Given the description of an element on the screen output the (x, y) to click on. 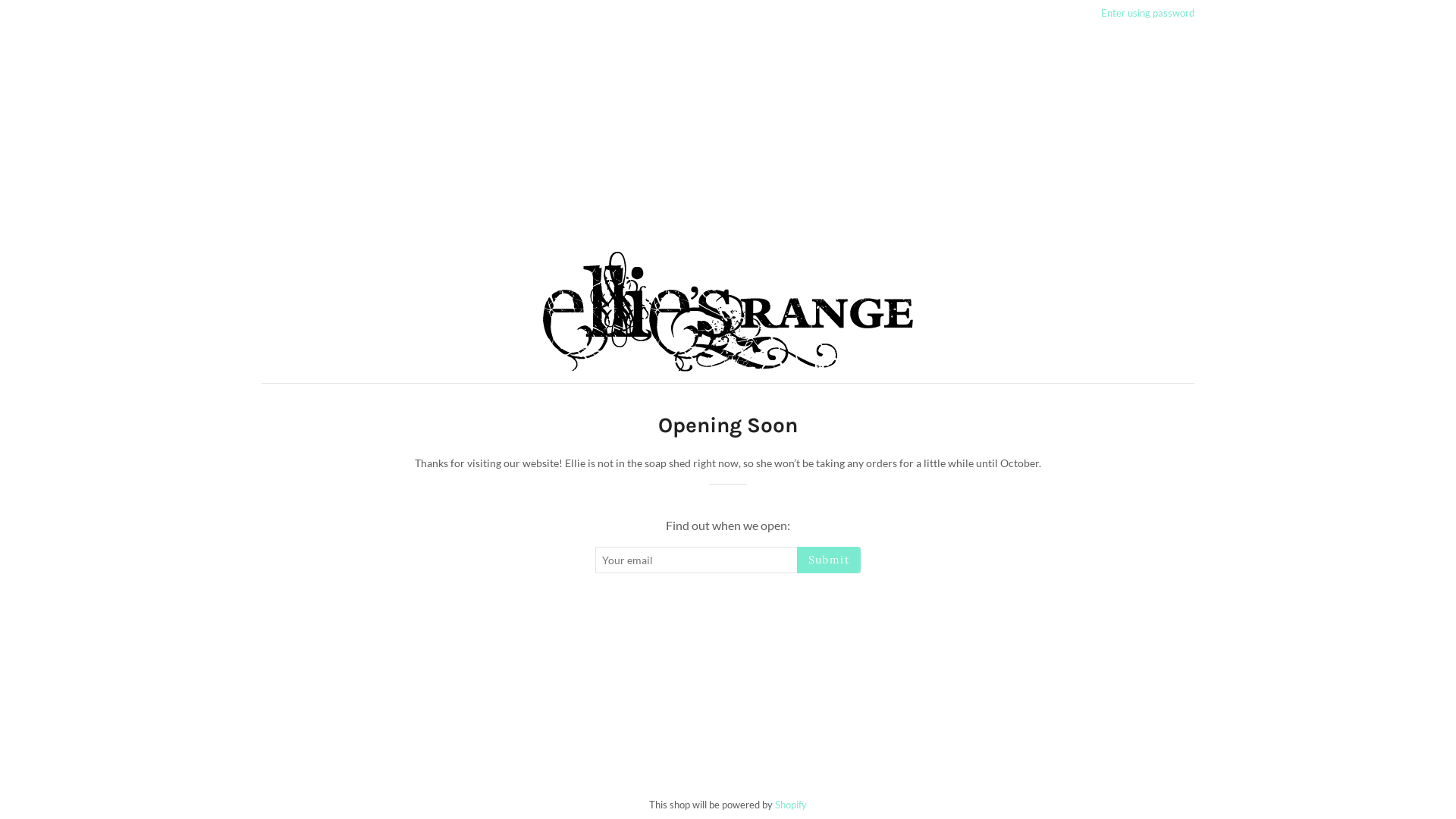
Enter Element type: text (1196, 554)
Enter using password Element type: text (1147, 12)
Submit Element type: text (828, 559)
Shopify Element type: text (790, 804)
